Given the description of an element on the screen output the (x, y) to click on. 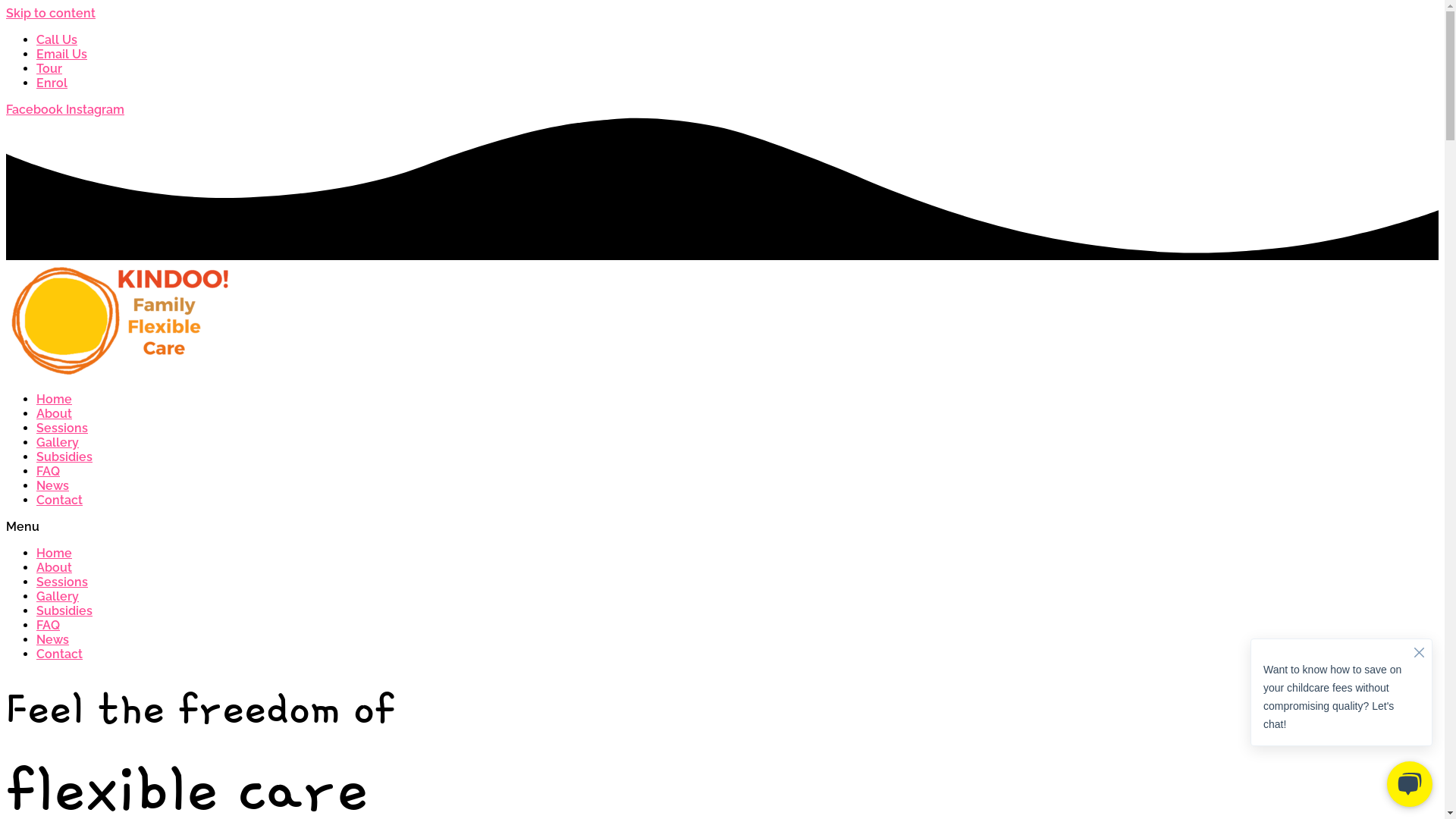
News Element type: text (52, 485)
Instagram Element type: text (94, 109)
Subsidies Element type: text (64, 456)
Gallery Element type: text (57, 596)
Tour Element type: text (49, 68)
About Element type: text (54, 567)
FAQ Element type: text (47, 625)
Skip to content Element type: text (50, 13)
Sessions Element type: text (61, 581)
Call Us Element type: text (56, 39)
Home Element type: text (54, 553)
News Element type: text (52, 639)
Email Us Element type: text (61, 54)
About Element type: text (54, 413)
Home Element type: text (54, 399)
FAQ Element type: text (47, 471)
Facebook Element type: text (35, 109)
Enrol Element type: text (51, 82)
Sessions Element type: text (61, 427)
Subsidies Element type: text (64, 610)
Gallery Element type: text (57, 442)
Contact Element type: text (59, 653)
Contact Element type: text (59, 499)
